Given the description of an element on the screen output the (x, y) to click on. 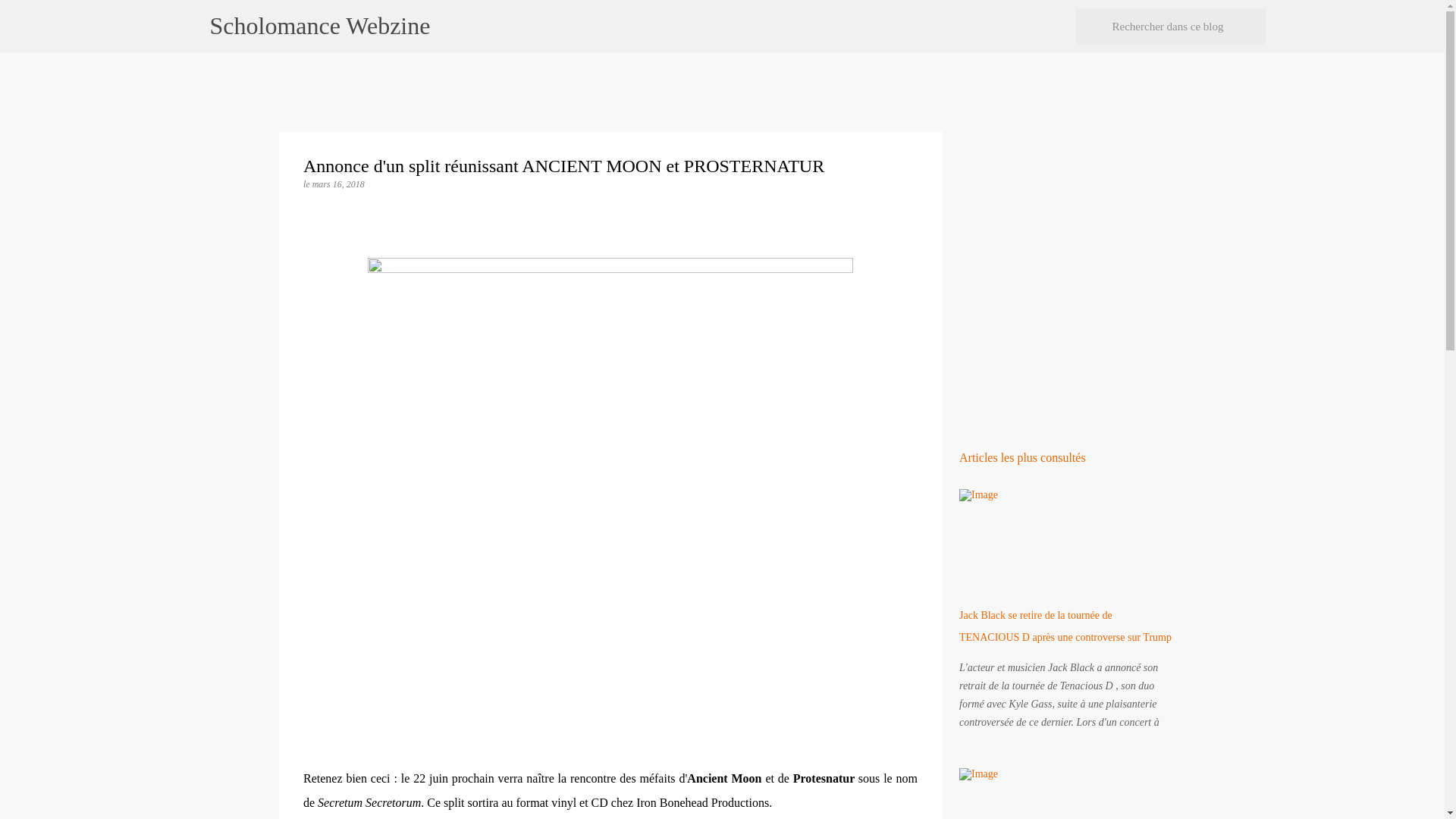
Scholomance Webzine (319, 25)
permanent link (339, 184)
mars 16, 2018 (339, 184)
